Given the description of an element on the screen output the (x, y) to click on. 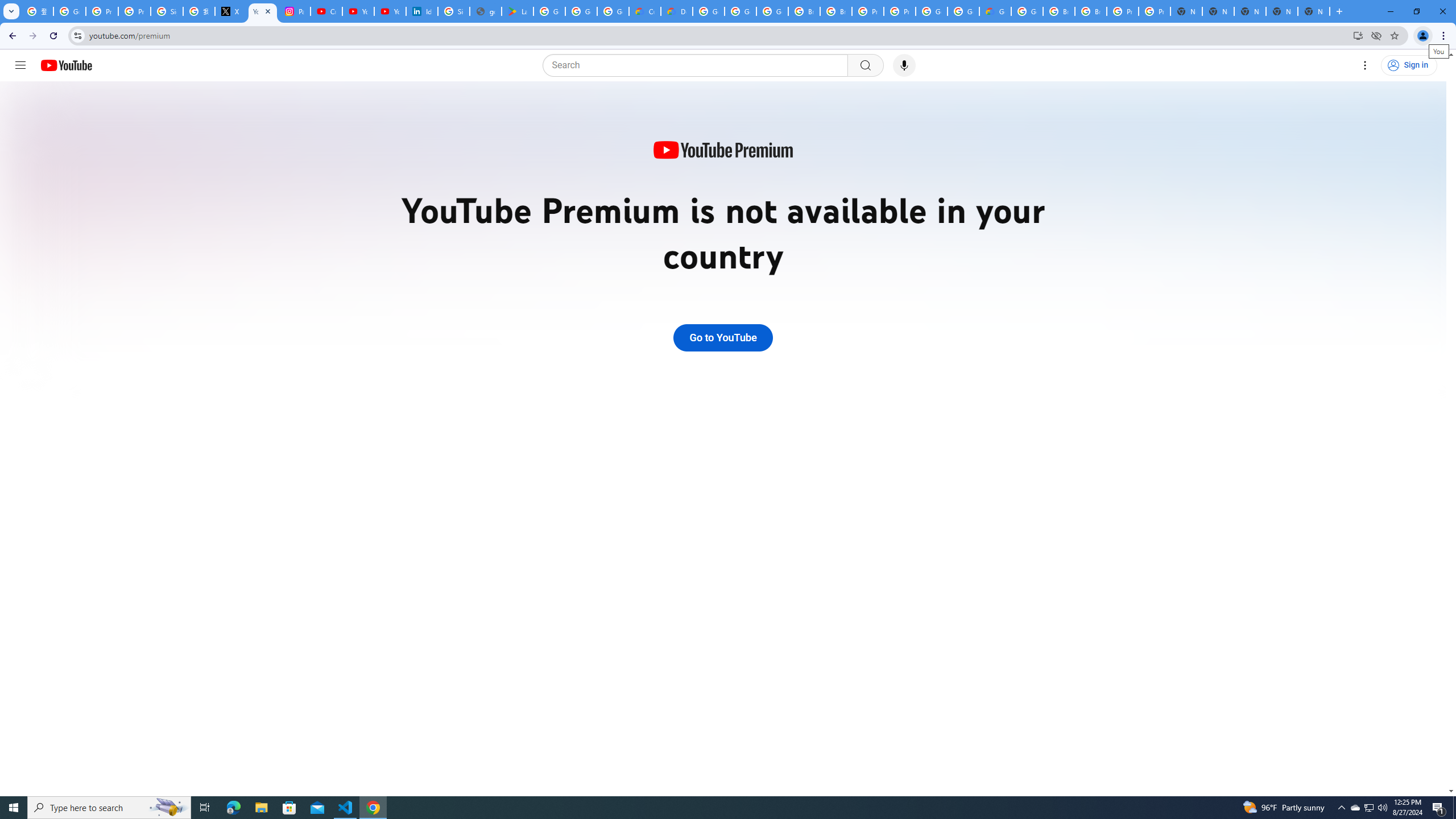
Install YouTube (1358, 35)
Last Shelter: Survival - Apps on Google Play (517, 11)
Google Workspace - Specific Terms (613, 11)
Google Cloud Platform (1027, 11)
Browse Chrome as a guest - Computer - Google Chrome Help (836, 11)
Sign in - Google Accounts (453, 11)
Google Cloud Platform (963, 11)
Sign in - Google Accounts (166, 11)
